Given the description of an element on the screen output the (x, y) to click on. 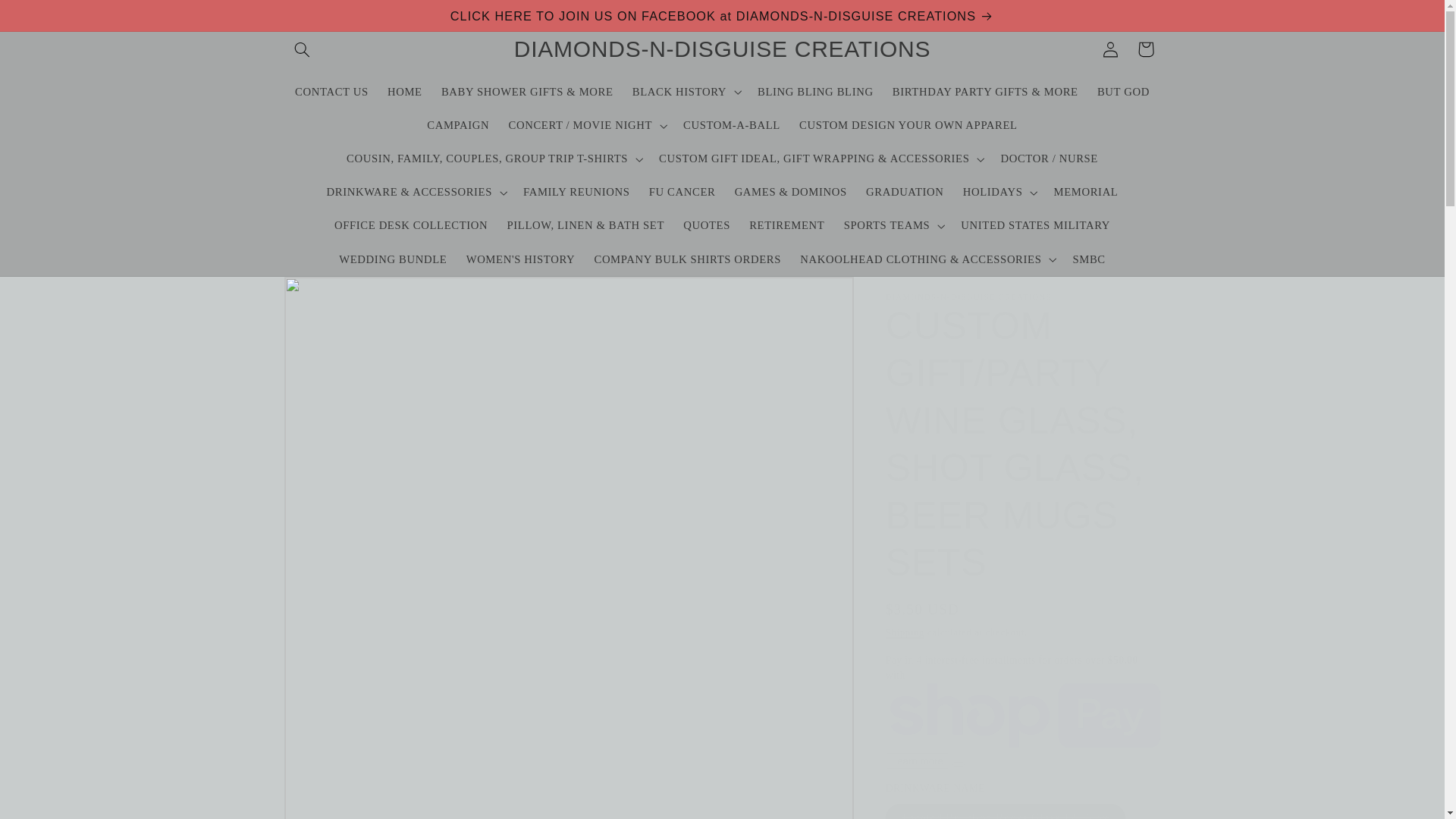
Skip to content (48, 18)
